Given the description of an element on the screen output the (x, y) to click on. 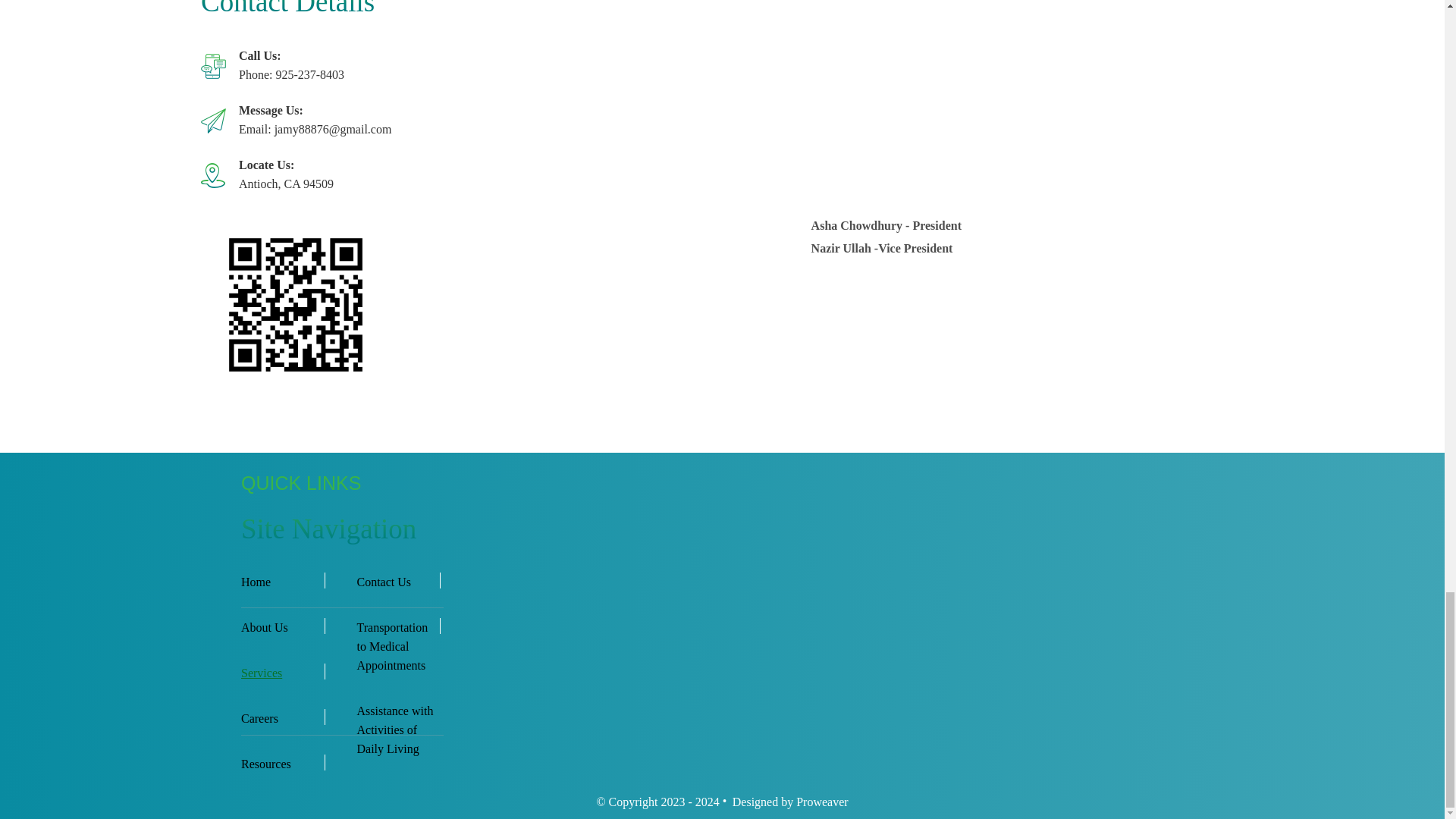
Assistance with Activities of Daily Living (397, 729)
Proweaver (821, 801)
About Us (282, 627)
Services (282, 672)
Transportation to Medical Appointments (397, 646)
Careers (282, 718)
Resources (282, 763)
Home (282, 581)
Contact Us (397, 581)
